Given the description of an element on the screen output the (x, y) to click on. 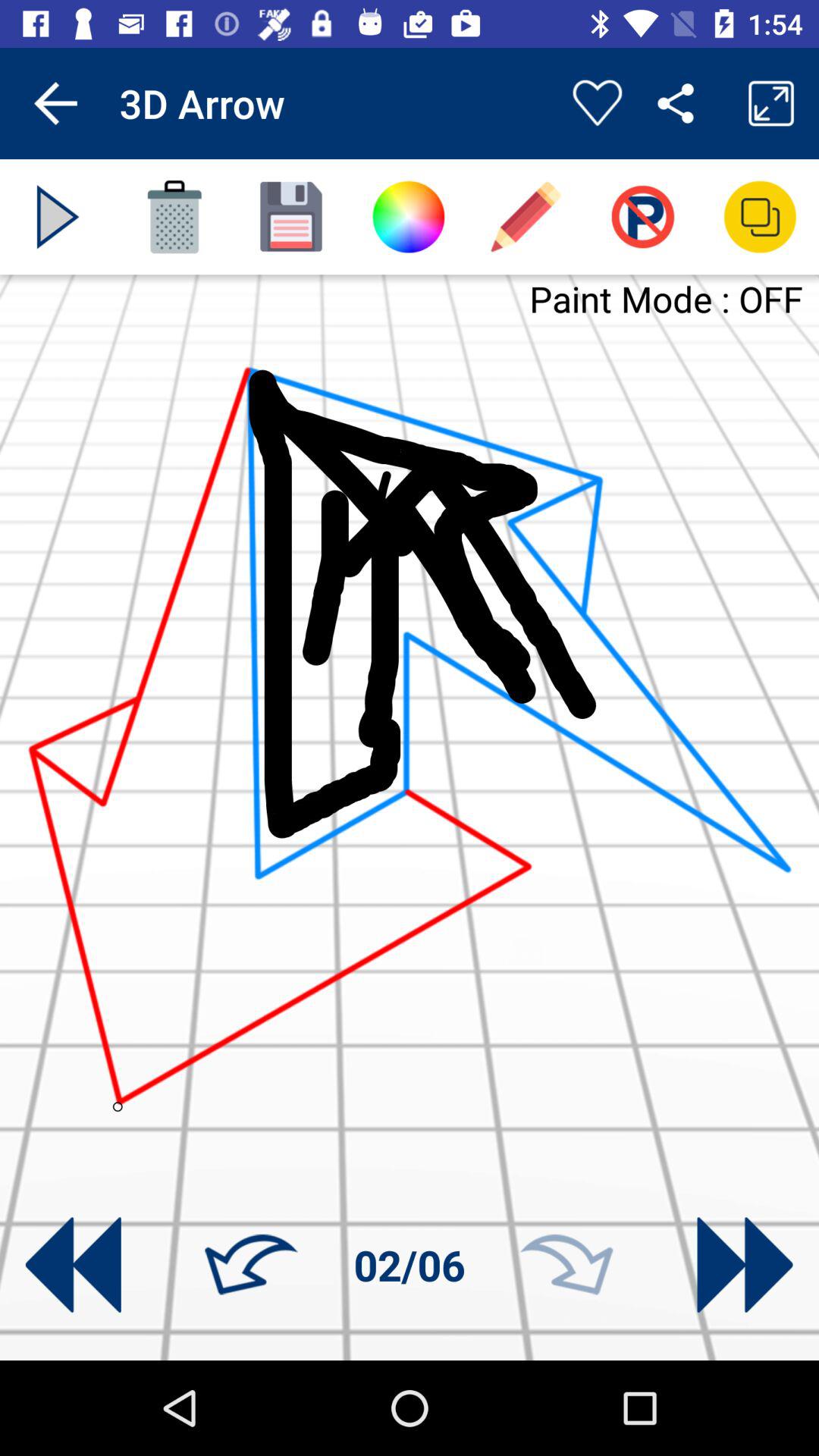
turn off app below 3d arrow icon (291, 216)
